Given the description of an element on the screen output the (x, y) to click on. 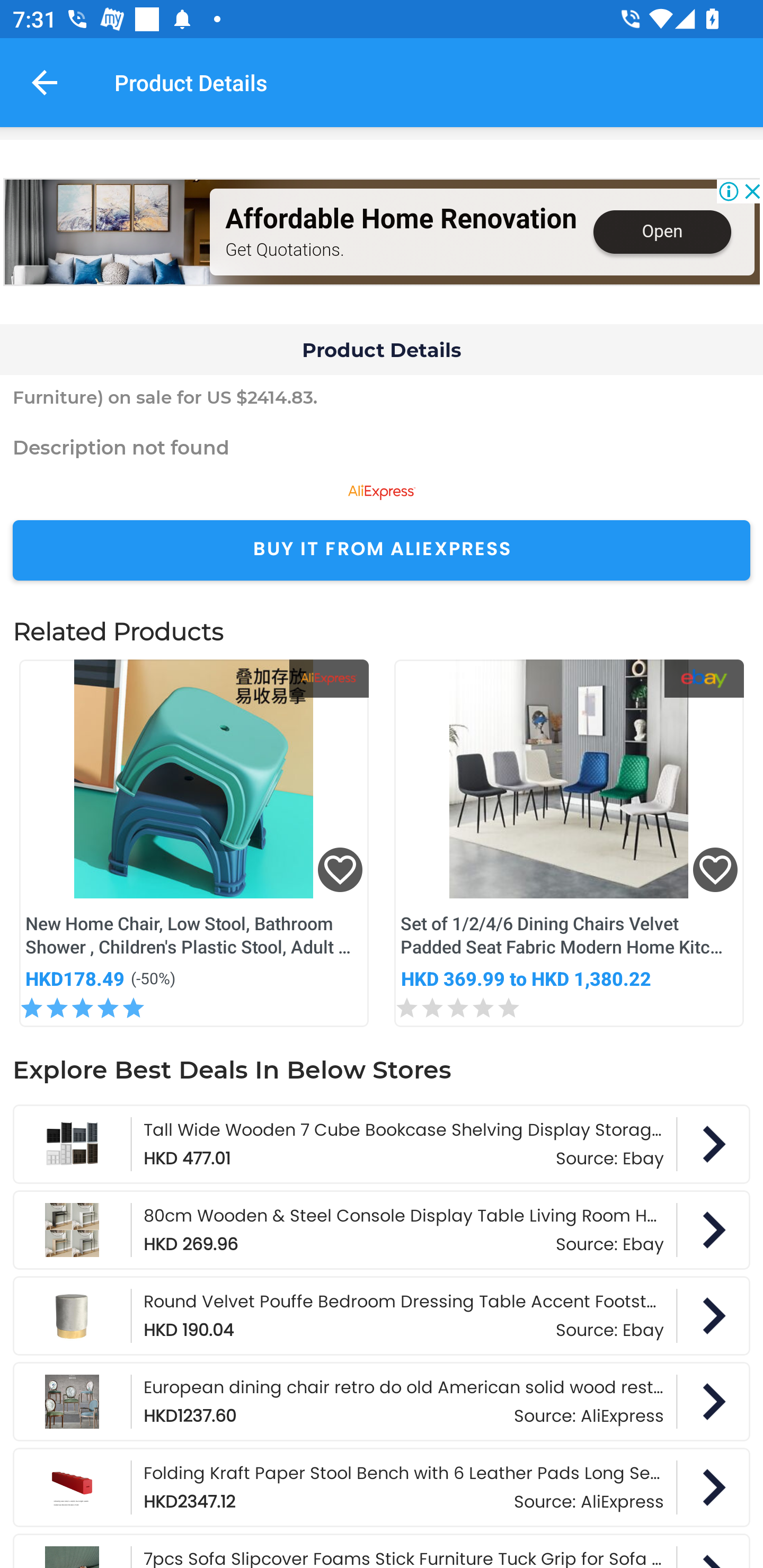
Navigate up (44, 82)
free-quote (107, 231)
Affordable Home Renovation (400, 219)
Open (661, 232)
Get Quotations. (284, 249)
Description not found (381, 446)
BUY IT FROM ALIEXPRESS (381, 550)
